Given the description of an element on the screen output the (x, y) to click on. 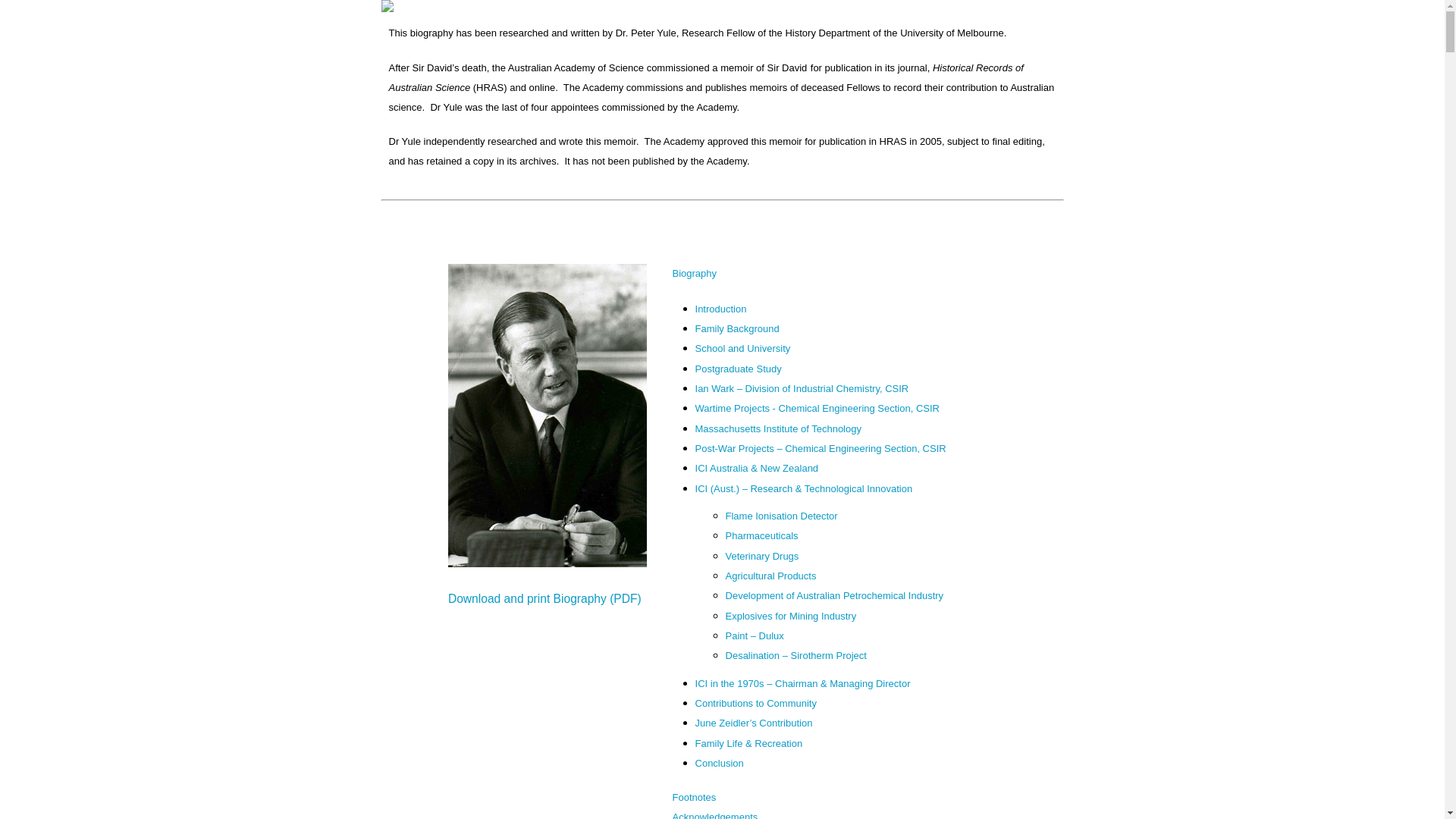
Family Background Element type: text (737, 327)
Wartime Projects - Chemical Engineering Section, CSIR Element type: text (817, 407)
ICI Australia & New Zealand Element type: text (757, 467)
Massachusetts Institute of Technology Element type: text (778, 427)
Conclusion Element type: text (719, 762)
Family Life & Recreation Element type: text (749, 742)
Agricultural Products Element type: text (770, 574)
Flame Ionisation Detector Element type: text (781, 514)
Download and print Biography (PDF) Element type: text (544, 592)
Biography Element type: text (694, 272)
Postgraduate Study Element type: text (738, 367)
School and University Element type: text (742, 347)
Pharmaceuticals Element type: text (761, 534)
Introduction Element type: text (720, 307)
Veterinary Drugs Element type: text (762, 555)
Explosives for Mining Industry Element type: text (790, 614)
Development of Australian Petrochemical Industry Element type: text (834, 594)
Footnotes Element type: text (694, 796)
Contributions to Community Element type: text (755, 702)
